Given the description of an element on the screen output the (x, y) to click on. 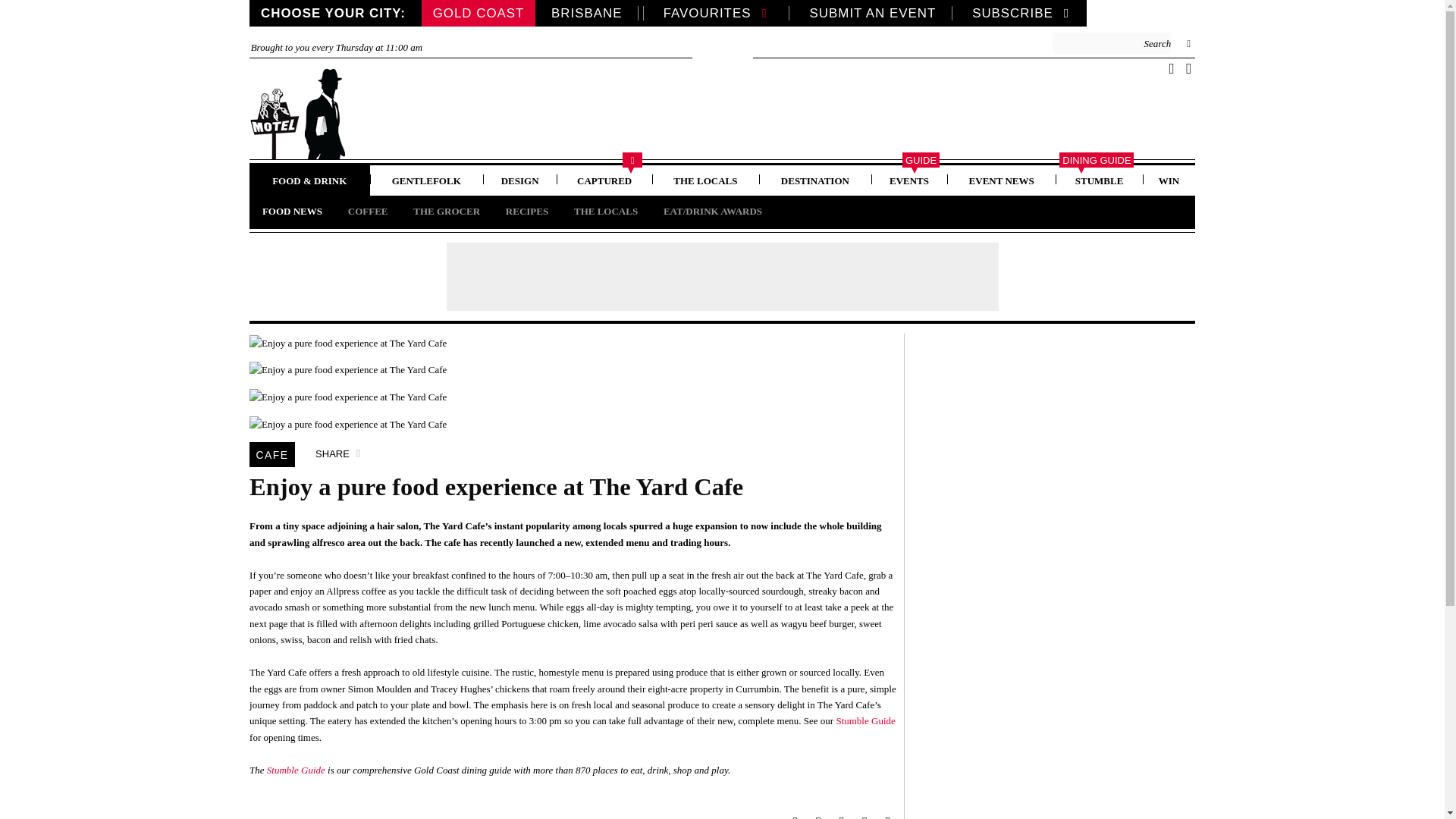
CAFE (271, 454)
Food News (291, 210)
The Locals (705, 180)
Brisbane (586, 13)
SUBSCRIBE (1023, 13)
Recipes (526, 210)
BRISBANE (586, 13)
STUMBLE (1099, 180)
Event News (1000, 180)
Gentlefolk (425, 180)
